Given the description of an element on the screen output the (x, y) to click on. 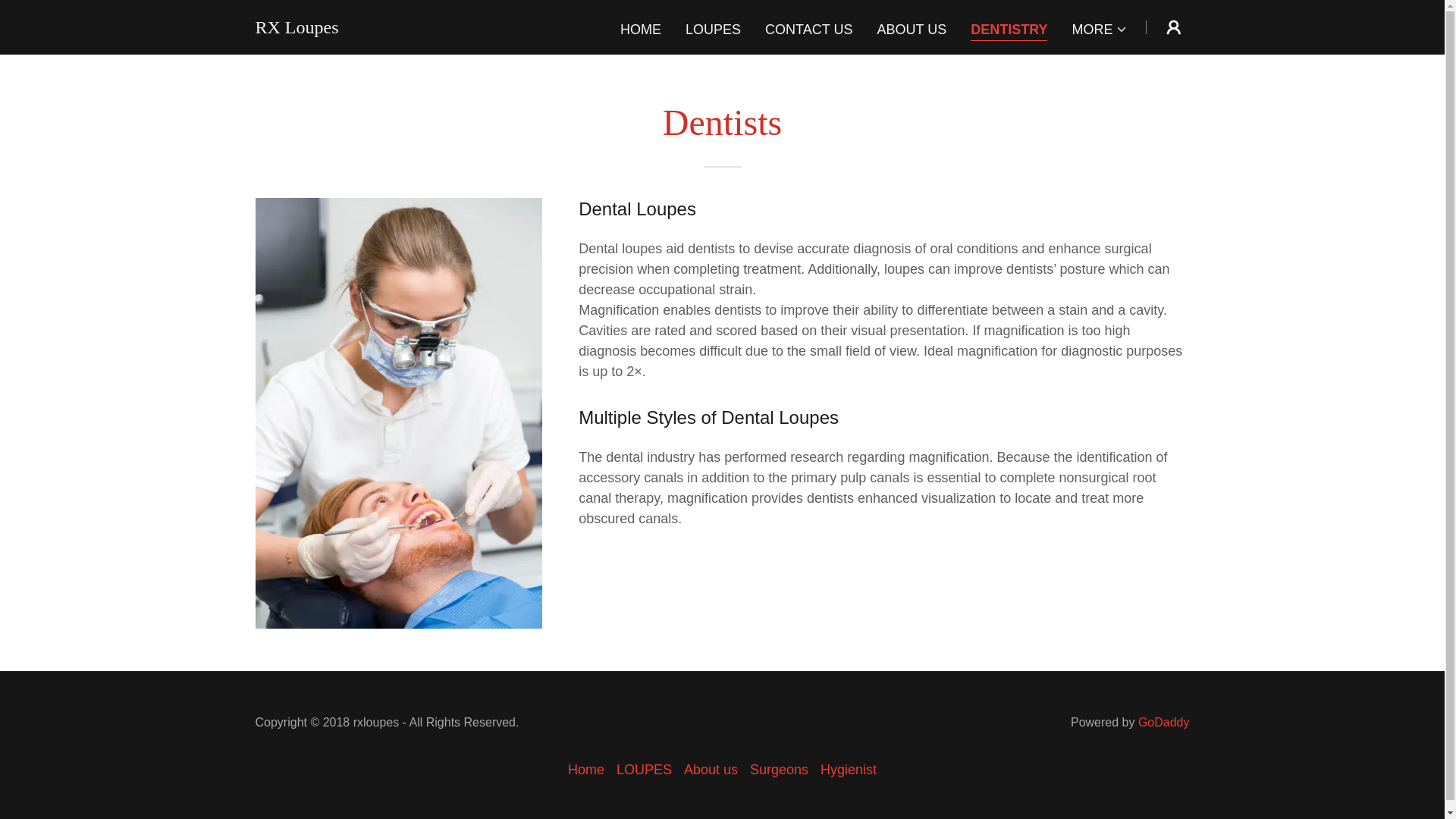
ABOUT US (911, 28)
DENTISTRY (1008, 29)
MORE (1098, 28)
GoDaddy (1163, 721)
HOME (640, 28)
About us (711, 769)
RX Loupes (295, 28)
Home (586, 769)
LOUPES (644, 769)
RX Loupes (295, 28)
CONTACT US (808, 28)
LOUPES (713, 28)
